Given the description of an element on the screen output the (x, y) to click on. 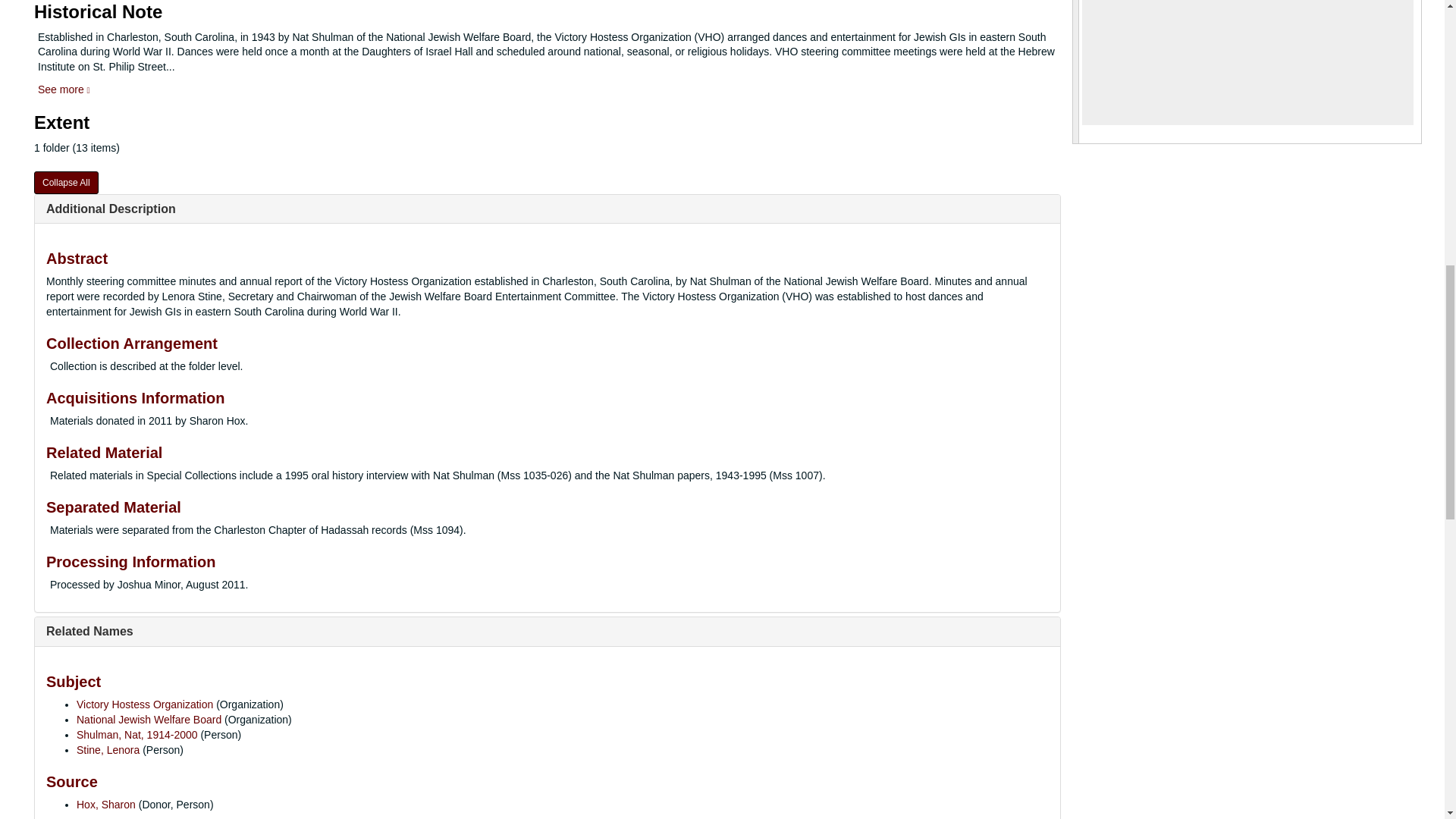
Hox, Sharon (106, 804)
Additional Description (111, 208)
Victory Hostess Organization (144, 704)
Shulman, Nat, 1914-2000 (137, 734)
National Jewish Welfare Board (149, 719)
Collapse All (66, 182)
Related Names (89, 631)
Stine, Lenora (108, 749)
See more (63, 89)
